Given the description of an element on the screen output the (x, y) to click on. 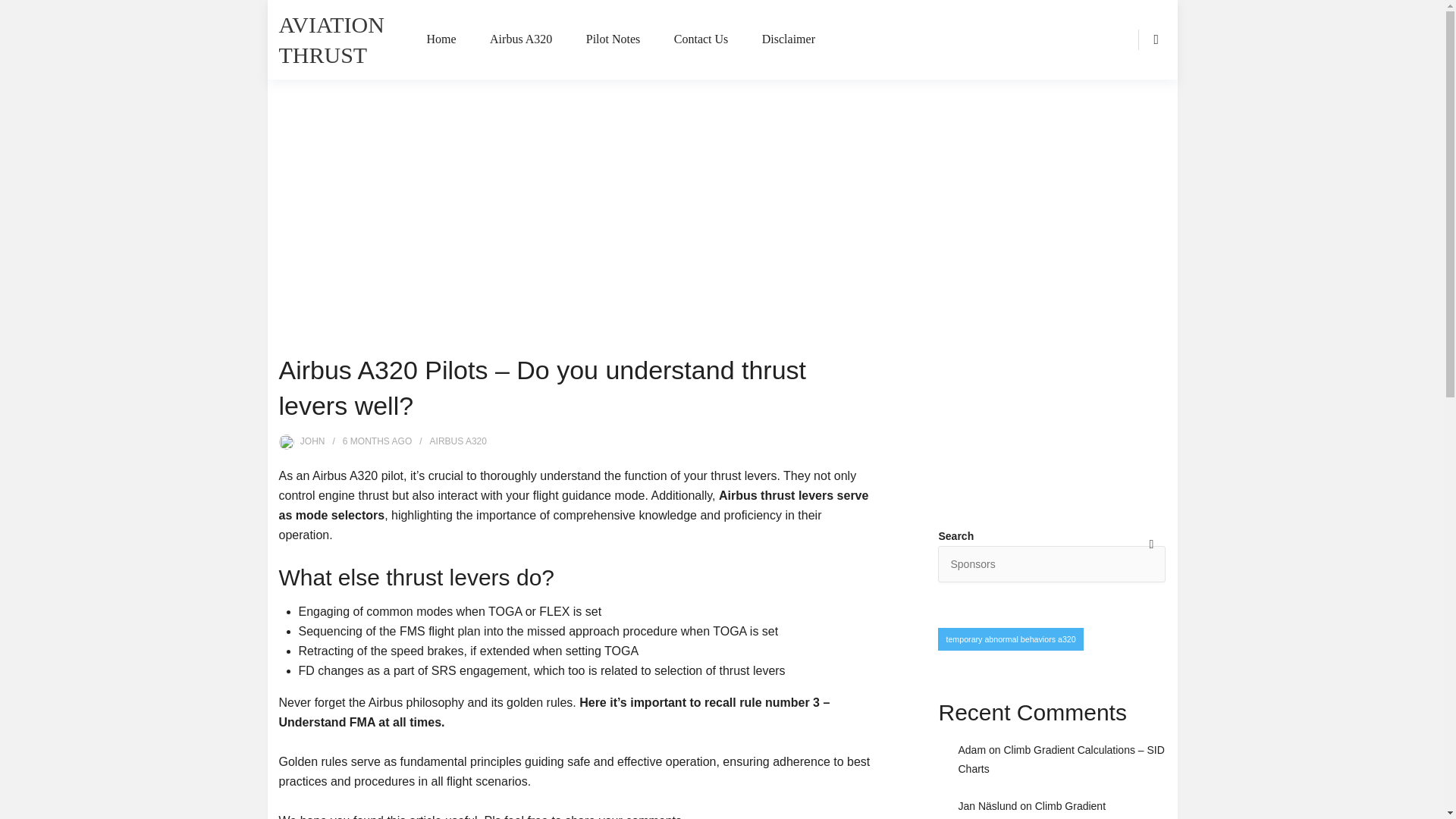
Aviation Thrust - Intro (1051, 416)
AVIATION THRUST (331, 39)
AIRBUS A320 (457, 440)
Contact Us (701, 39)
Pilot Notes (613, 39)
Disclaimer (788, 39)
Adam (971, 749)
Home (440, 39)
temporary abnormal behaviors a320 (1010, 639)
